Given the description of an element on the screen output the (x, y) to click on. 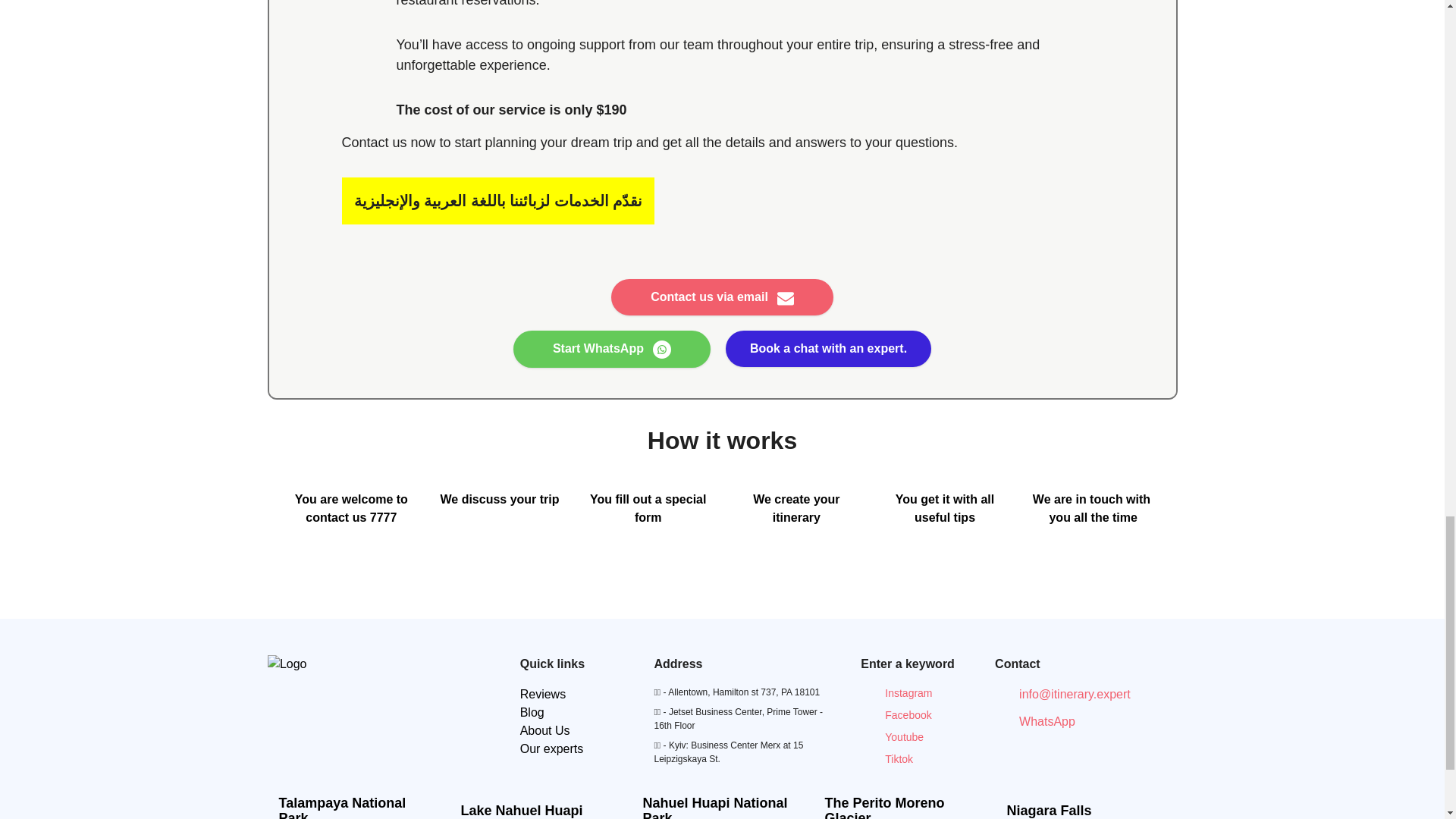
Instagram (895, 693)
Blog (531, 712)
Book a chat with an expert. (828, 348)
About Us (544, 730)
Start WhatsApp (611, 348)
Facebook (895, 715)
Contact us via email (721, 297)
Reviews (542, 694)
Our experts (551, 748)
